Given the description of an element on the screen output the (x, y) to click on. 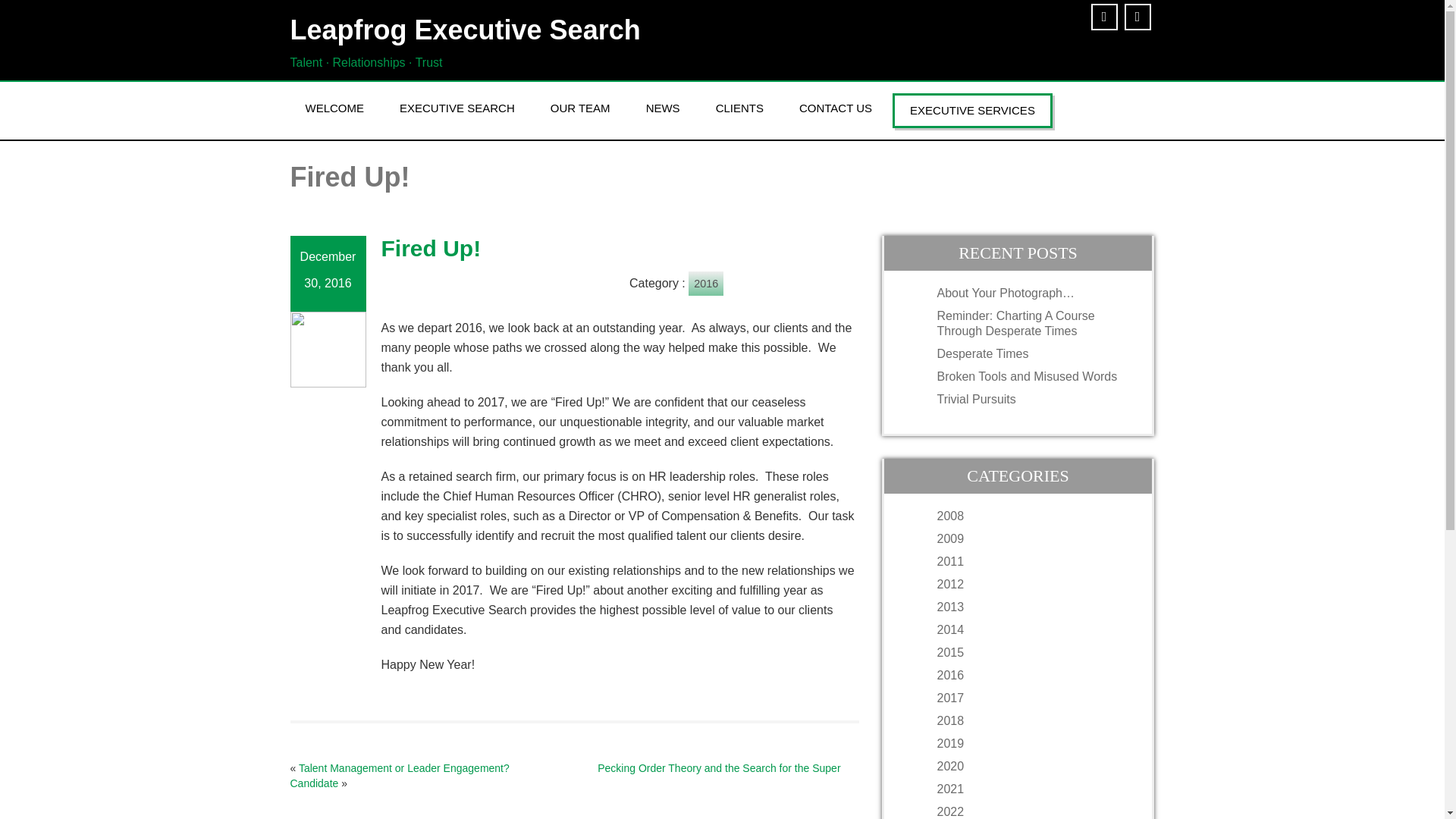
2017 (1033, 698)
2018 (1033, 720)
Desperate Times (1033, 353)
OUR TEAM (580, 108)
Leapfrog Executive Search (499, 30)
NEWS (662, 108)
Reminder: Charting A Course Through Desperate Times (1033, 323)
2021 (1033, 789)
EXECUTIVE SERVICES (972, 110)
2011 (1033, 561)
